Given the description of an element on the screen output the (x, y) to click on. 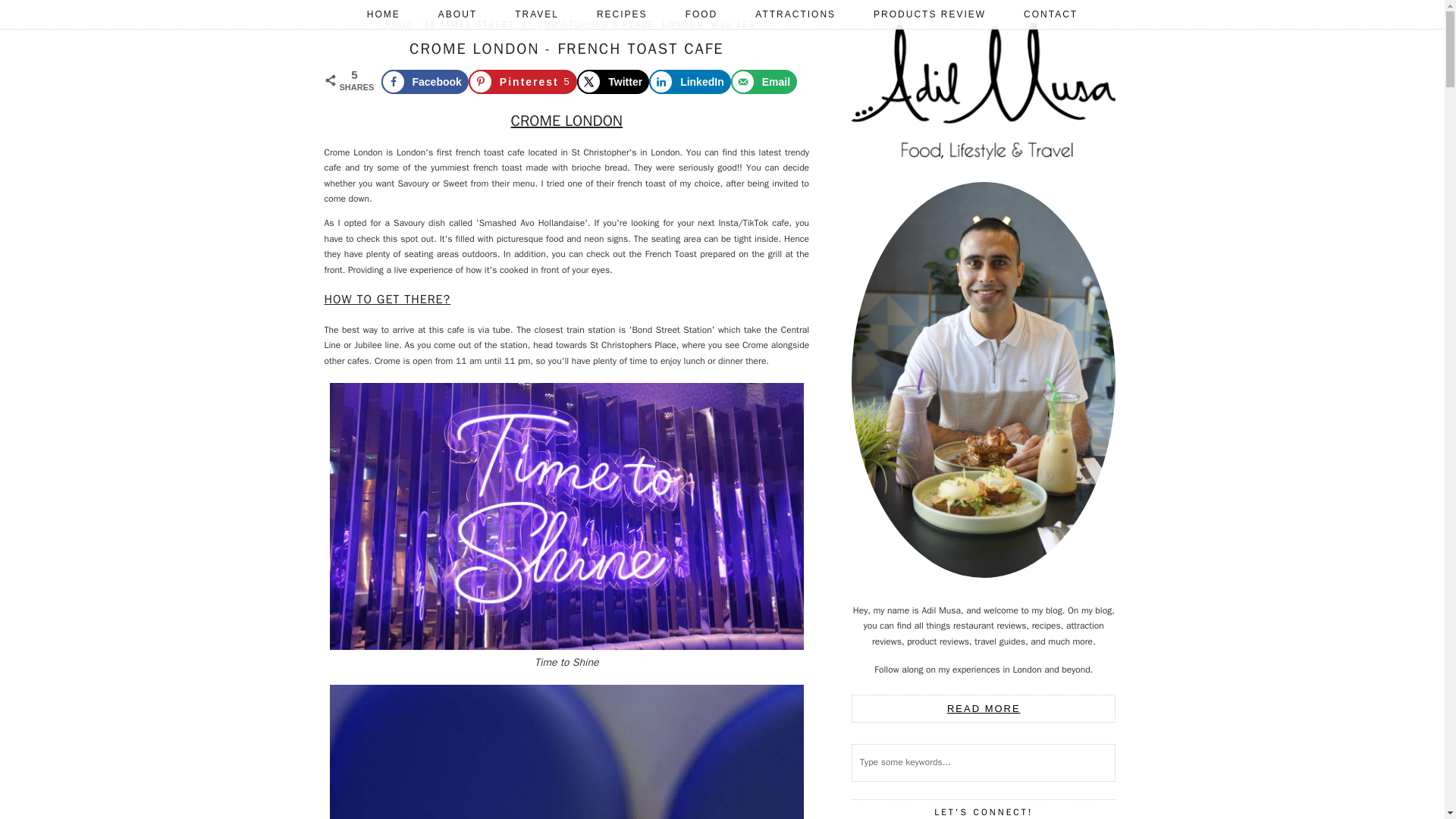
Share on X (612, 81)
Share on Facebook (423, 81)
Save to Pinterest (522, 81)
ABOUT (457, 14)
RECIPES (622, 14)
ATTRACTIONS (795, 14)
CONTACT (1050, 14)
FOOD (701, 14)
HOME (383, 14)
PRODUCTS REVIEW (929, 14)
TRAVEL (537, 14)
